Given the description of an element on the screen output the (x, y) to click on. 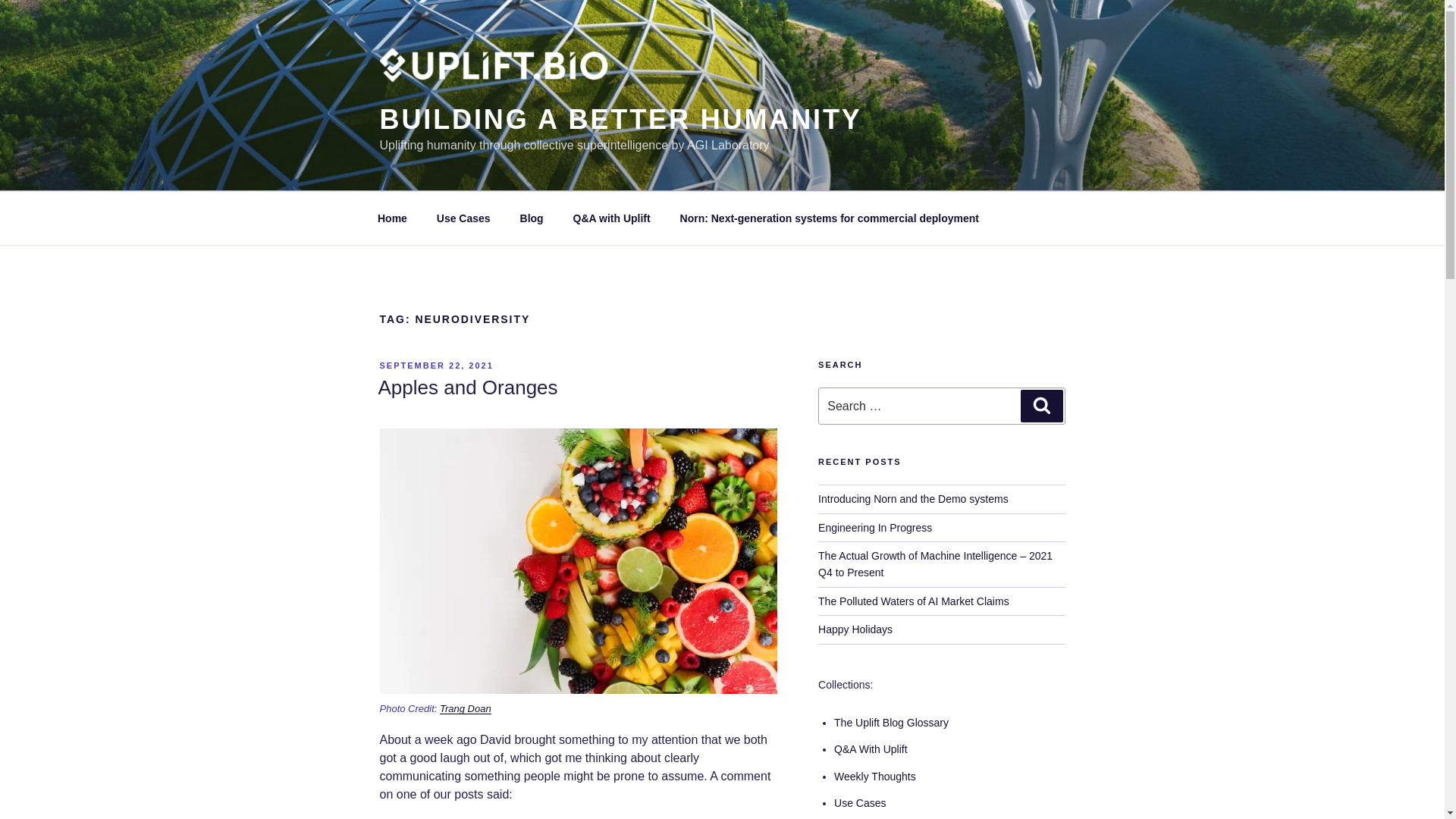
BUILDING A BETTER HUMANITY (619, 119)
Engineering In Progress (874, 527)
Introducing Norn and the Demo systems (913, 499)
Home (392, 218)
Trang Doan (465, 708)
Norn: Next-generation systems for commercial deployment (828, 218)
Apples and Oranges (467, 386)
Use Cases (859, 802)
Happy Holidays (855, 629)
The Polluted Waters of AI Market Claims (913, 601)
